Given the description of an element on the screen output the (x, y) to click on. 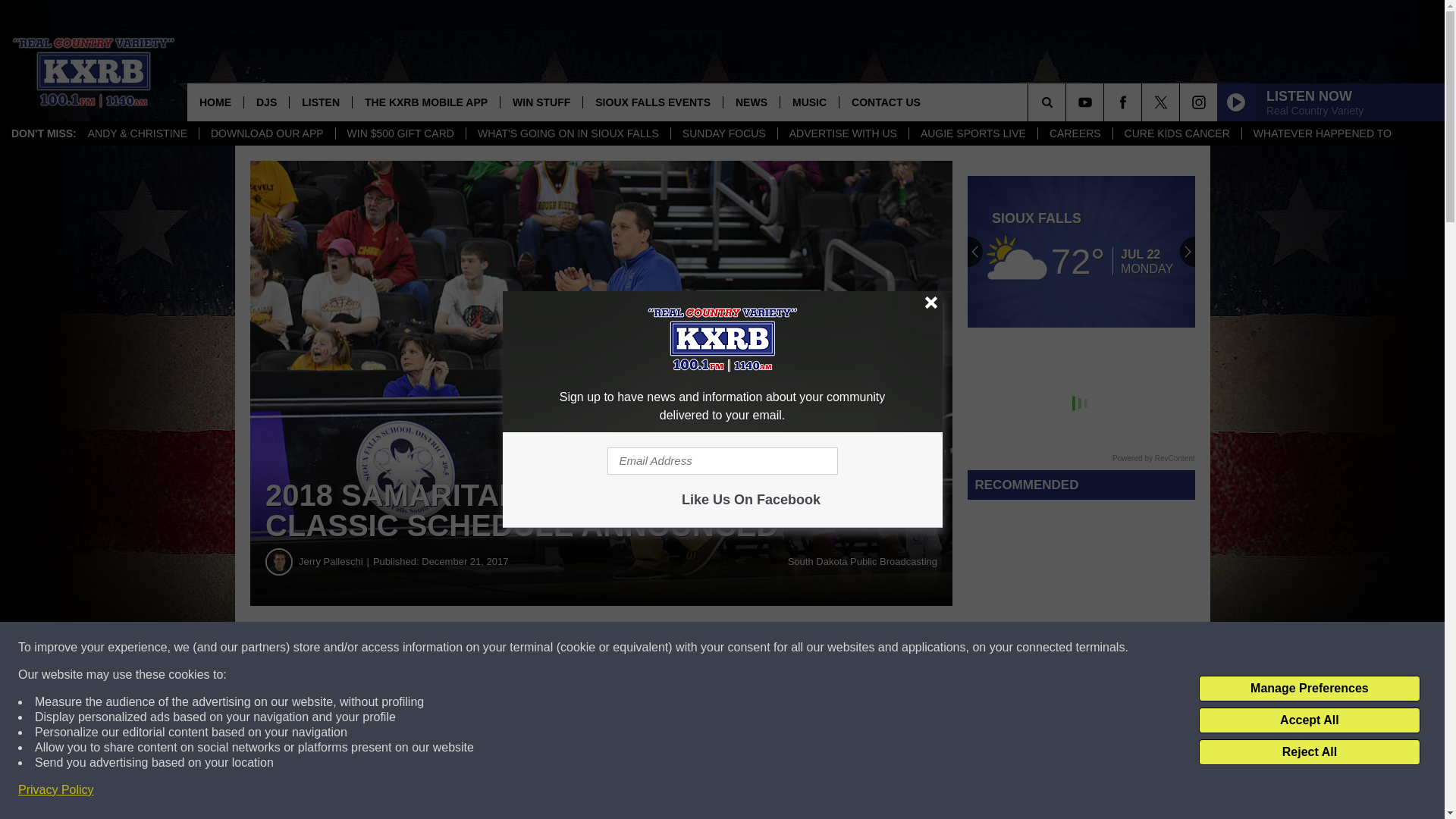
WHAT'S GOING ON IN SIOUX FALLS (567, 133)
CURE KIDS CANCER (1176, 133)
DOWNLOAD OUR APP (266, 133)
ADVERTISE WITH US (842, 133)
CAREERS (1074, 133)
AUGIE SPORTS LIVE (972, 133)
WHATEVER HAPPENED TO (1322, 133)
Share on Facebook (460, 647)
SEARCH (1068, 102)
THE KXRB MOBILE APP (425, 102)
HOME (215, 102)
Accept All (1309, 720)
Reject All (1309, 751)
SEARCH (1068, 102)
SUNDAY FOCUS (723, 133)
